Given the description of an element on the screen output the (x, y) to click on. 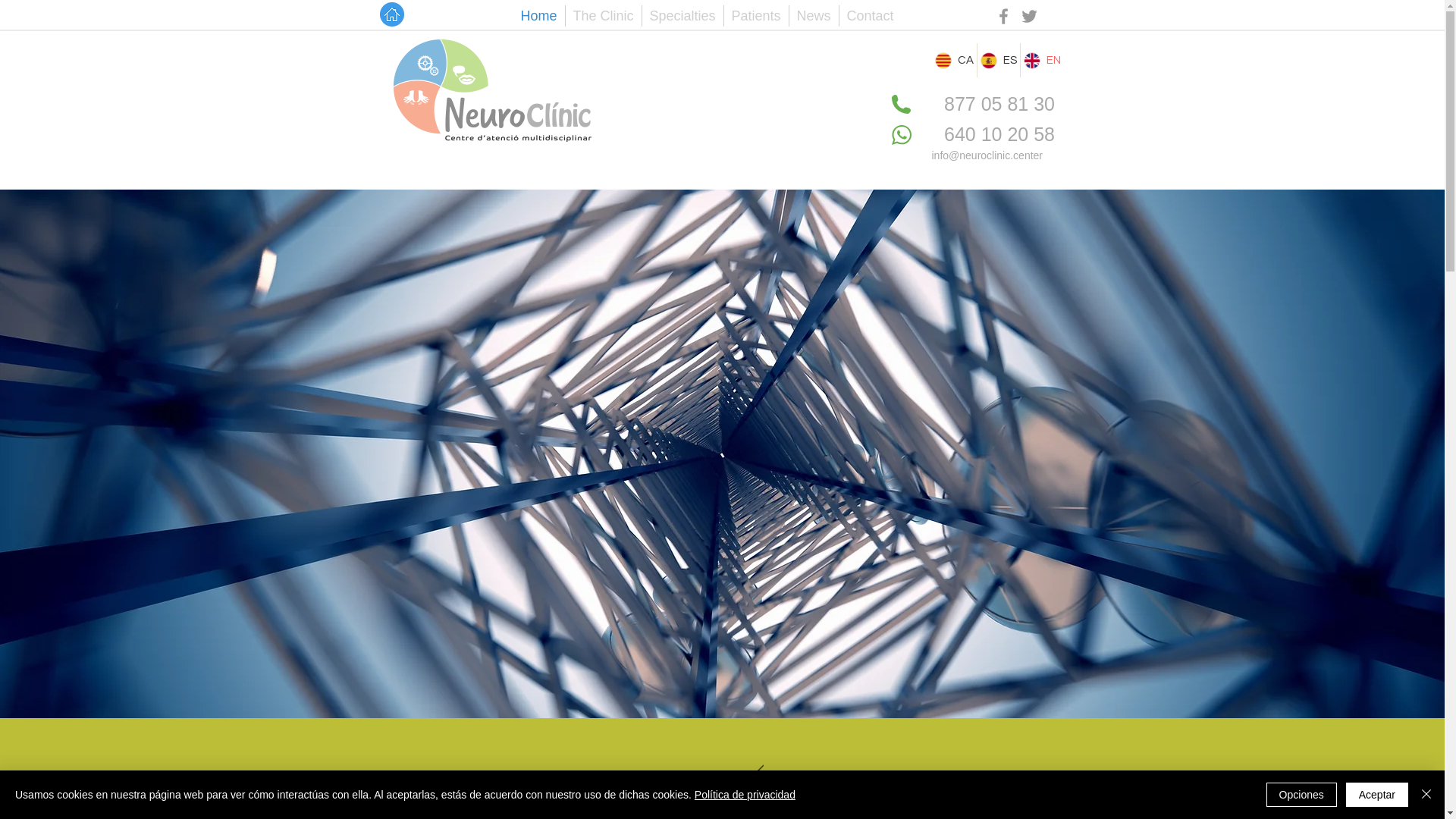
Contact Element type: text (869, 15)
Home Element type: text (538, 15)
Opciones Element type: text (1301, 794)
info@neuroclinic.center Element type: text (986, 155)
ES Element type: text (997, 60)
EN Element type: text (1041, 60)
NEUROCLINIC_web.png Element type: hover (491, 89)
CA Element type: text (953, 60)
Aceptar Element type: text (1377, 794)
